Given the description of an element on the screen output the (x, y) to click on. 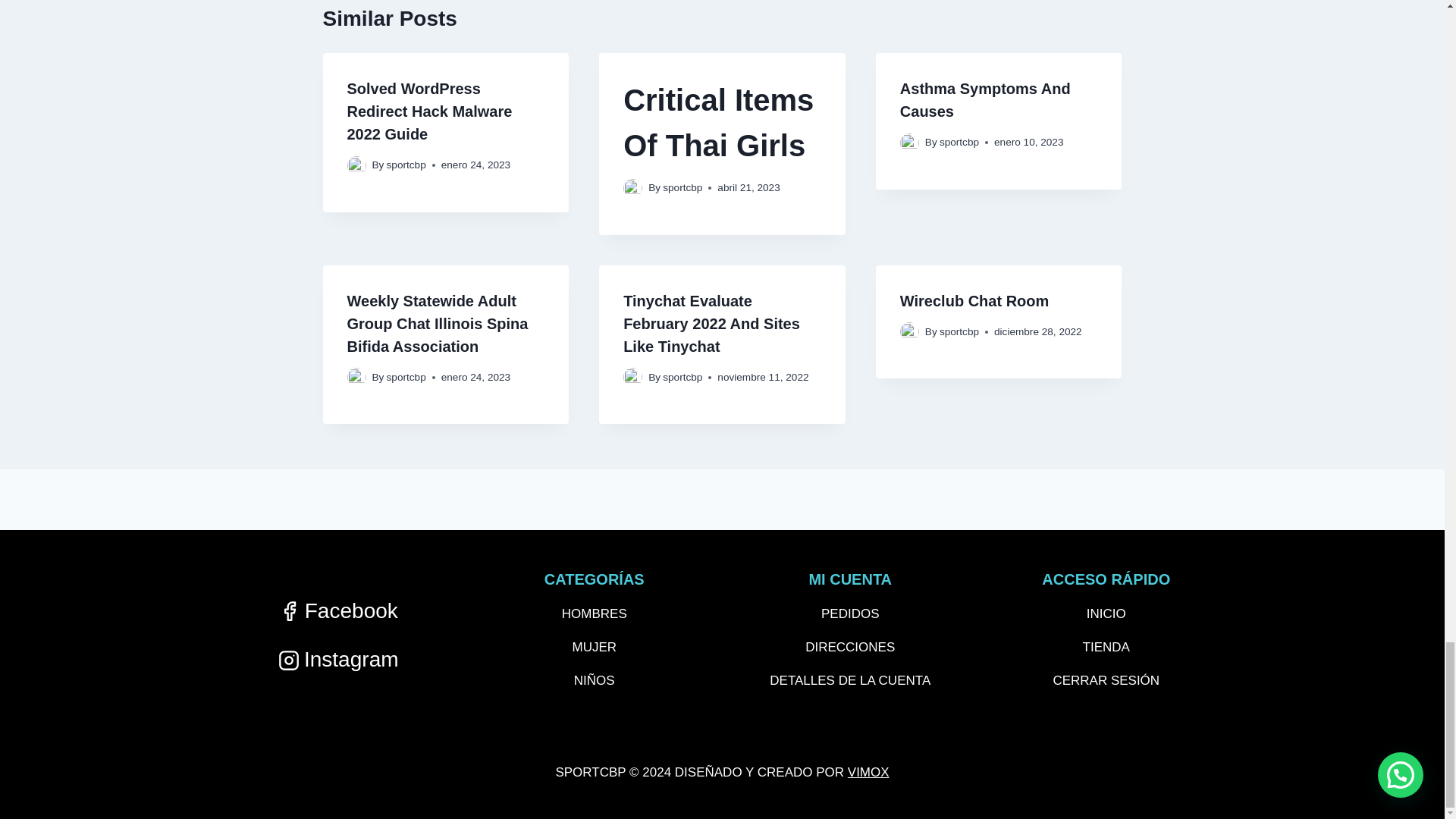
Solved WordPress Redirect Hack Malware 2022 Guide (429, 111)
sportcbp (406, 164)
Critical Items Of Thai Girls (722, 122)
